Given the description of an element on the screen output the (x, y) to click on. 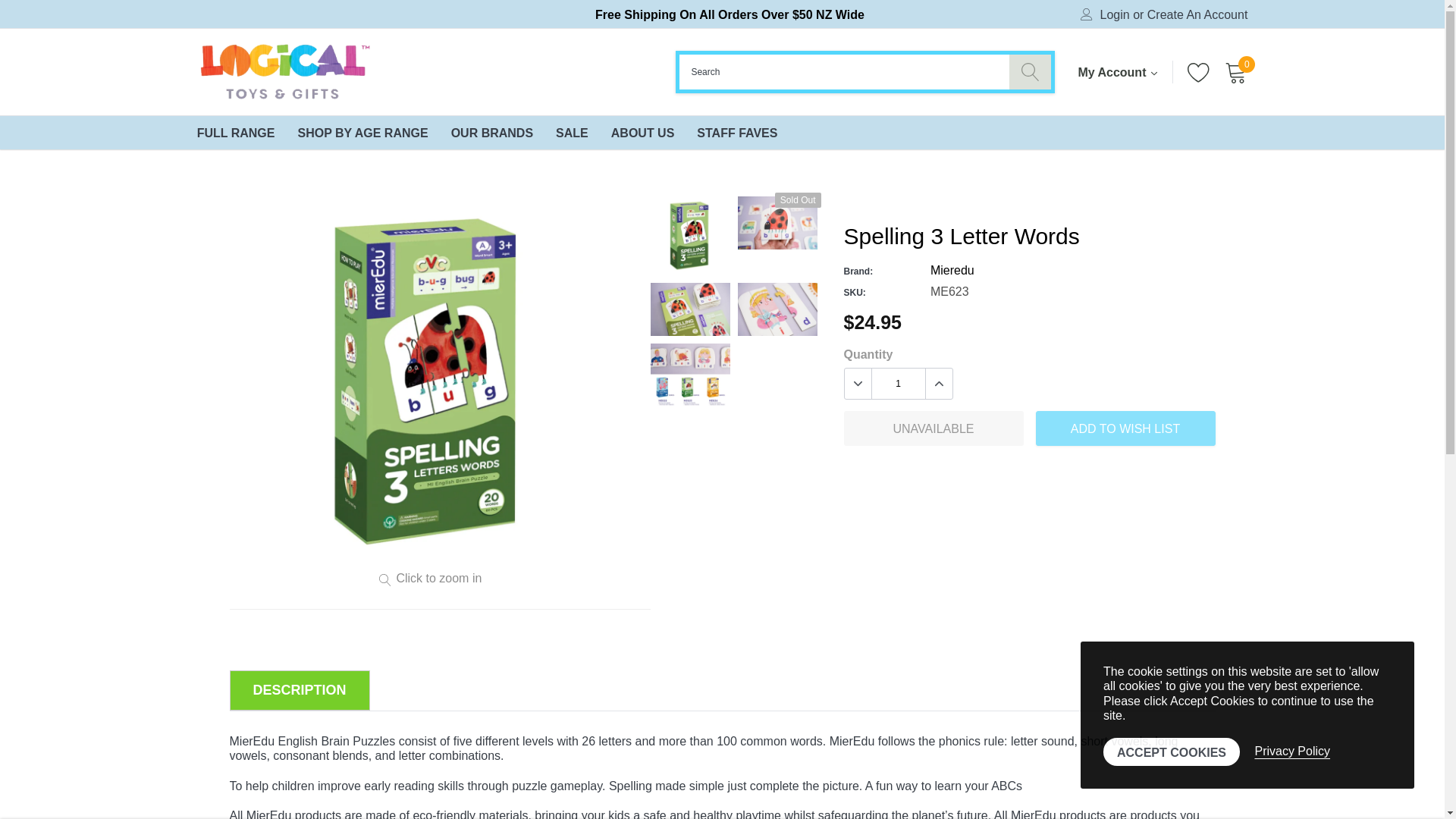
1 (898, 383)
Login (1114, 15)
Create An Account (1197, 15)
search (1030, 71)
Mieredu (952, 269)
